Given the description of an element on the screen output the (x, y) to click on. 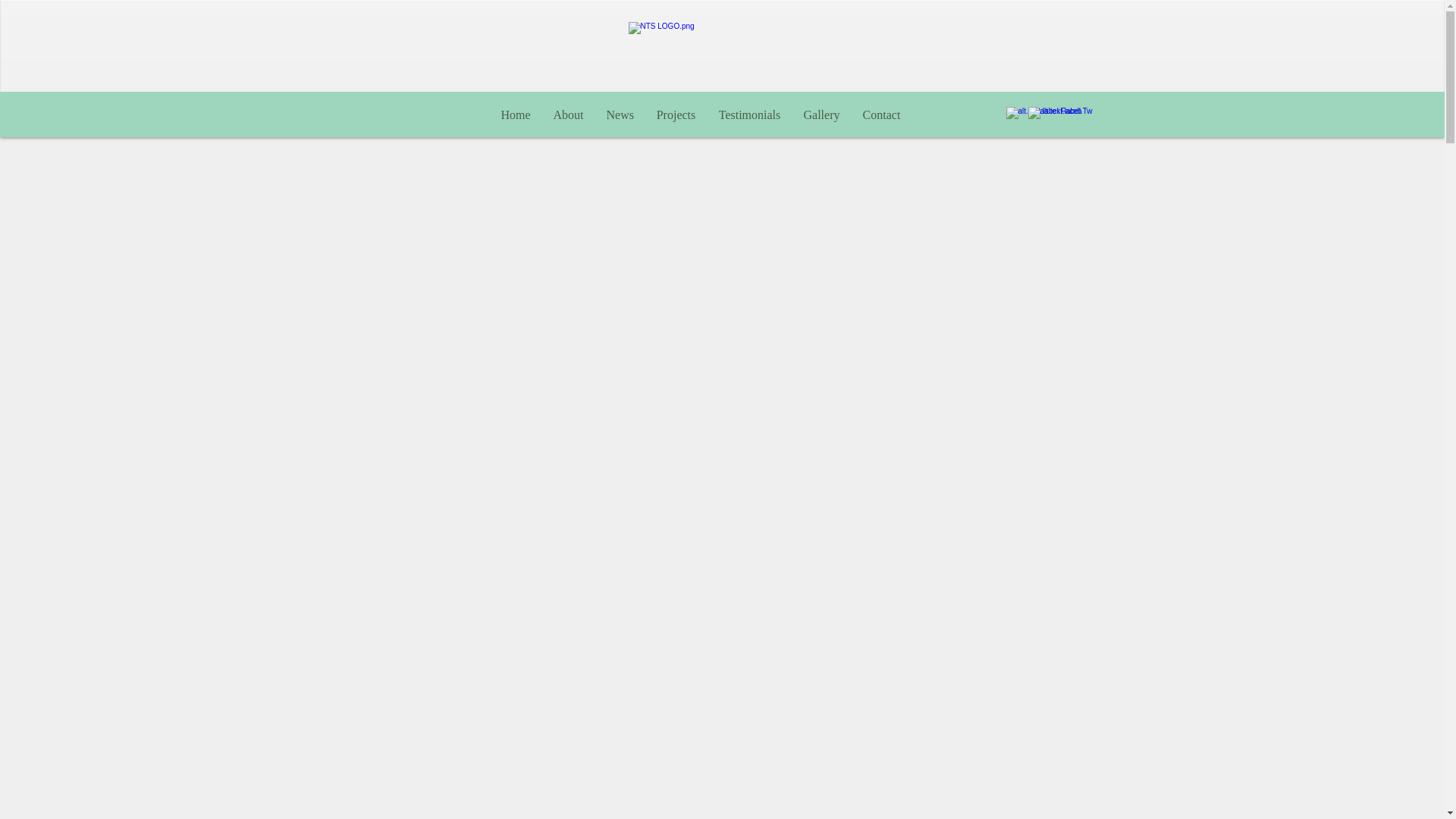
Testimonials (749, 115)
News (619, 115)
Home (515, 115)
About (567, 115)
Gallery (821, 115)
Projects (675, 115)
Contact (880, 115)
